Given the description of an element on the screen output the (x, y) to click on. 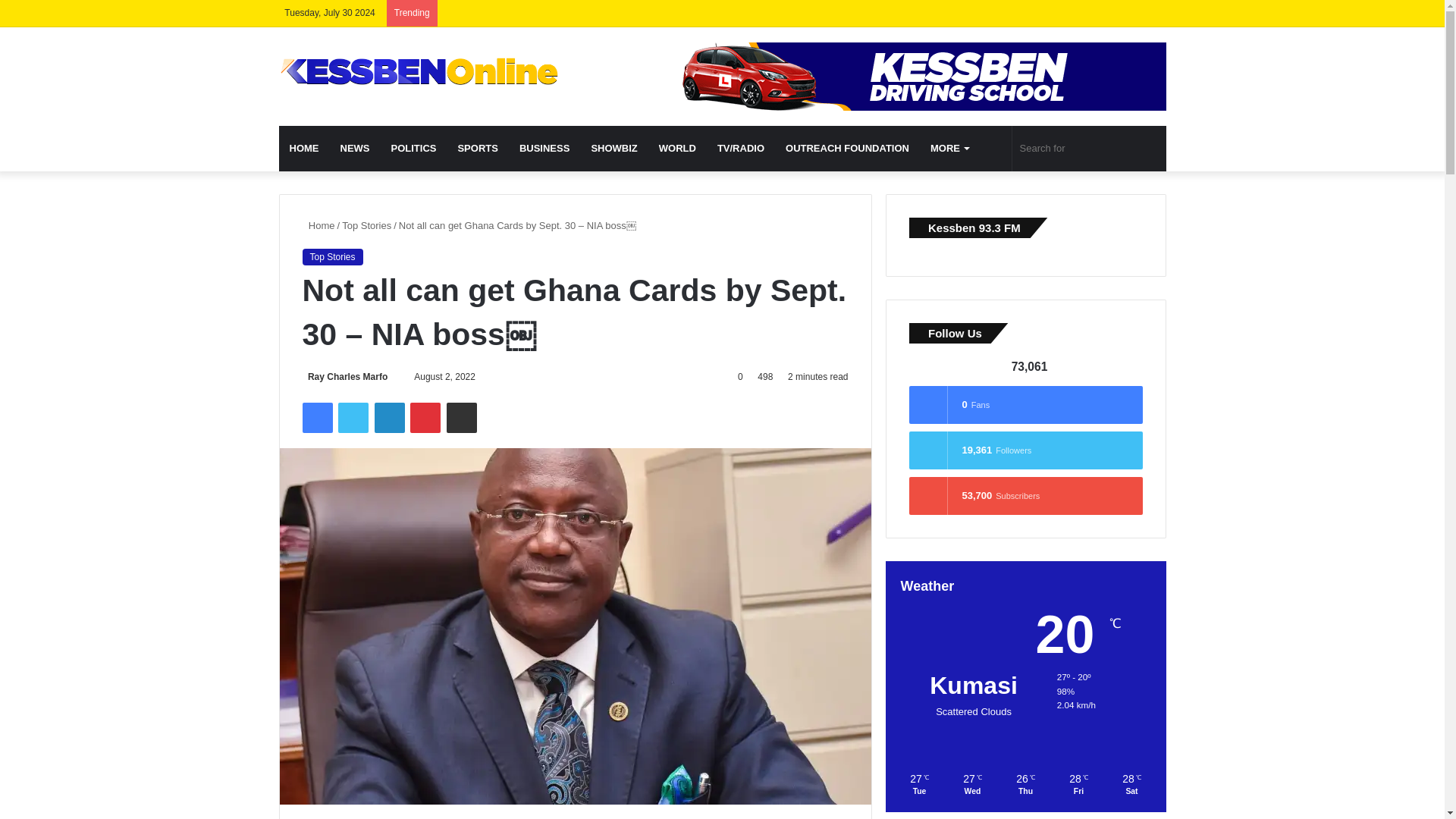
BUSINESS (543, 148)
Twitter (352, 417)
HOME (304, 148)
MORE (949, 148)
Ray Charles Marfo (344, 376)
LinkedIn (389, 417)
SPORTS (477, 148)
Search for (1088, 148)
OUTREACH FOUNDATION (847, 148)
Kessben Online (419, 71)
SHOWBIZ (613, 148)
Facebook (316, 417)
POLITICS (413, 148)
WORLD (676, 148)
Pinterest (425, 417)
